Given the description of an element on the screen output the (x, y) to click on. 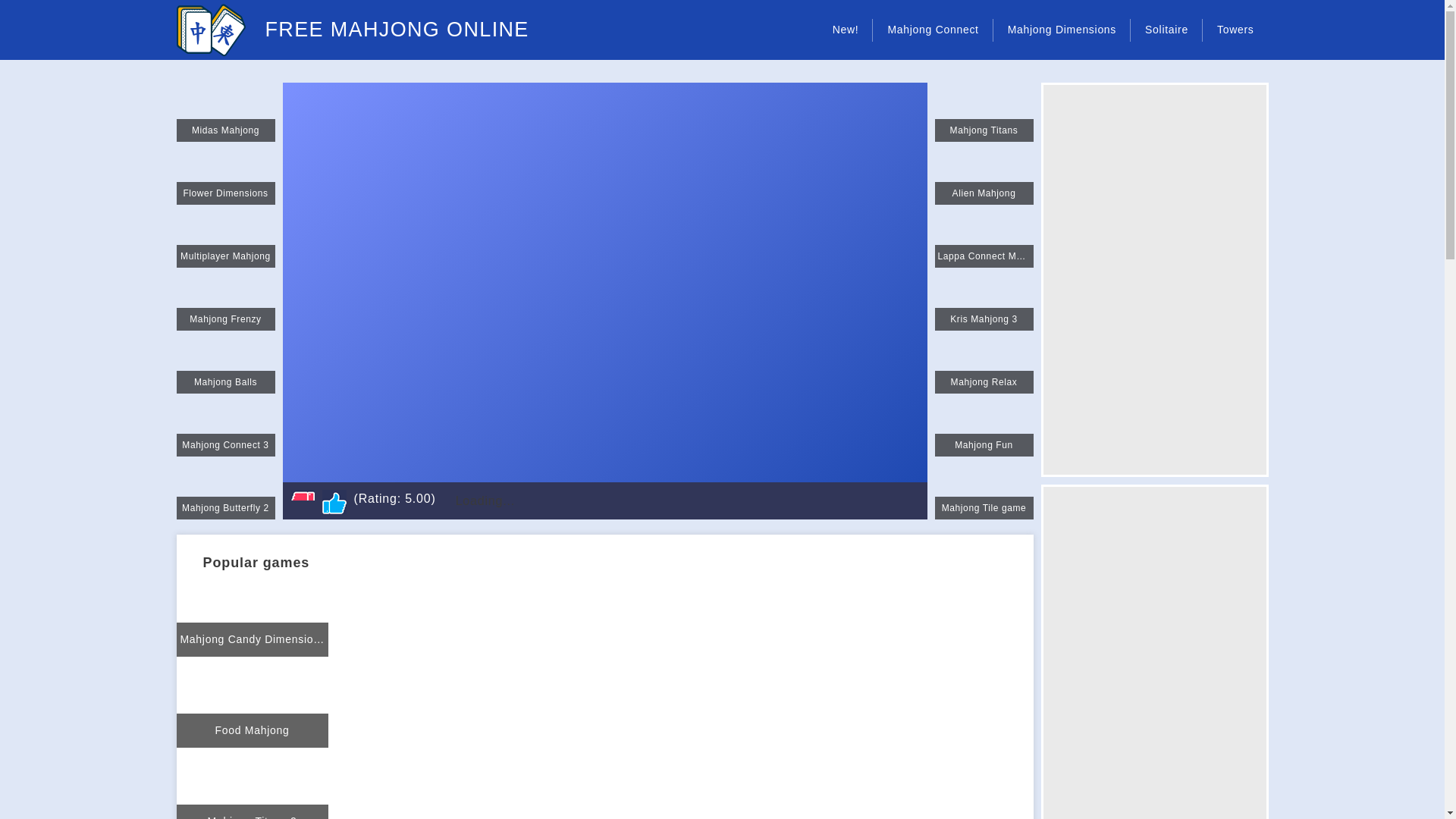
New! (845, 29)
Mahjong Relax (983, 363)
Popular games (264, 562)
FREE MAHJONG ONLINE (352, 30)
Mahjong Titans 2 (251, 783)
Dislike! (301, 501)
Alien Mahjong (983, 174)
Mahjong Butterfly 2 (225, 489)
Mahjong Balls (225, 363)
Midas Mahjong (225, 111)
